Given the description of an element on the screen output the (x, y) to click on. 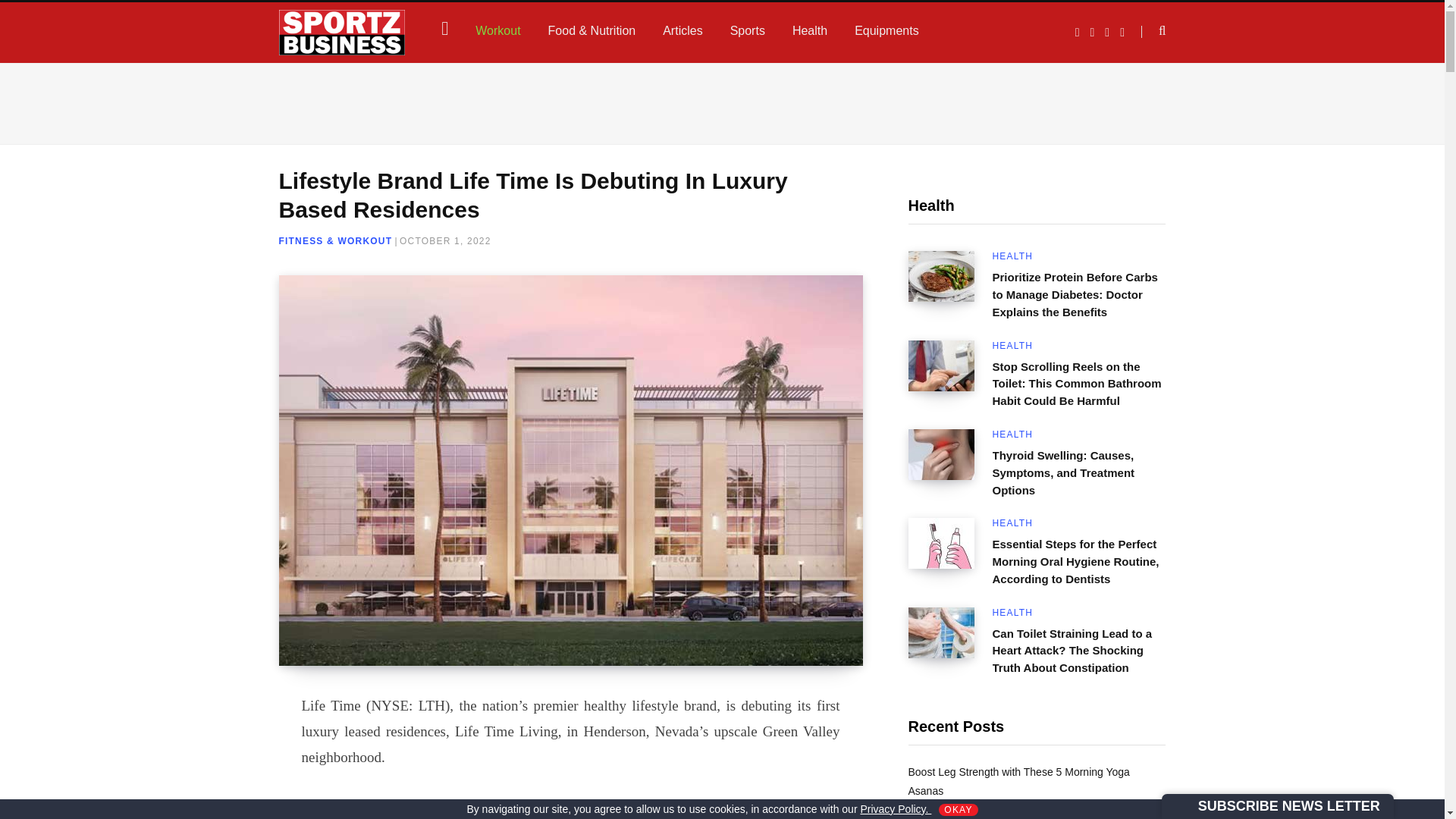
Workout (497, 30)
Search (1153, 31)
Articles (682, 30)
OCTOBER 1, 2022 (445, 240)
Equipments (887, 30)
Sportz Business (342, 32)
Health (809, 30)
Sports (747, 30)
OKAY (957, 809)
